Given the description of an element on the screen output the (x, y) to click on. 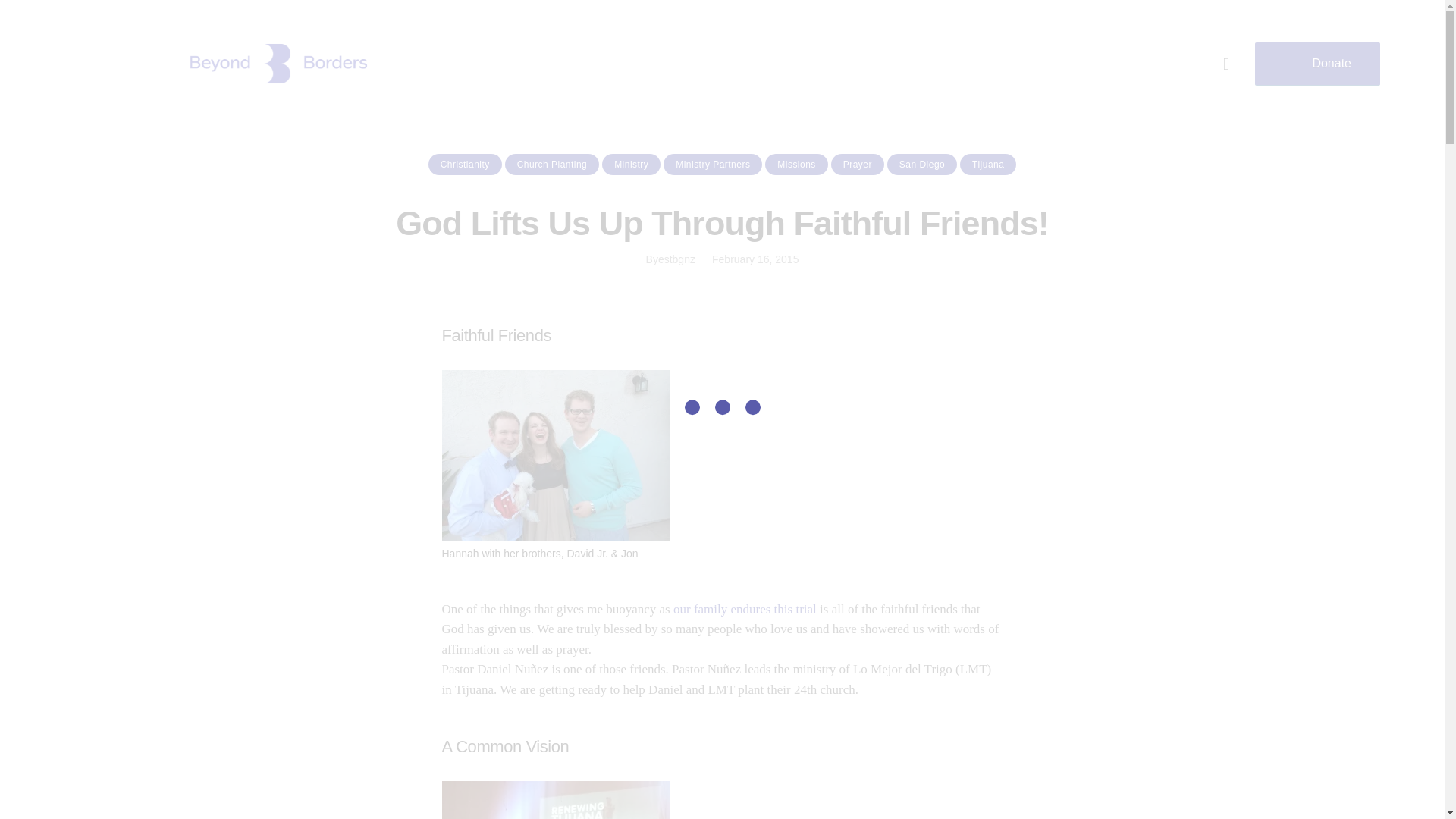
San Diego (921, 164)
Donate (1317, 63)
Ministry Partners (712, 164)
Ministry (631, 164)
Missions (796, 164)
Church Planting (552, 164)
A Call to Prayer! (744, 608)
Prayer (857, 164)
Byestbgnz (670, 259)
Tijuana (987, 164)
Christianity (465, 164)
our family endures this trial (744, 608)
